Given the description of an element on the screen output the (x, y) to click on. 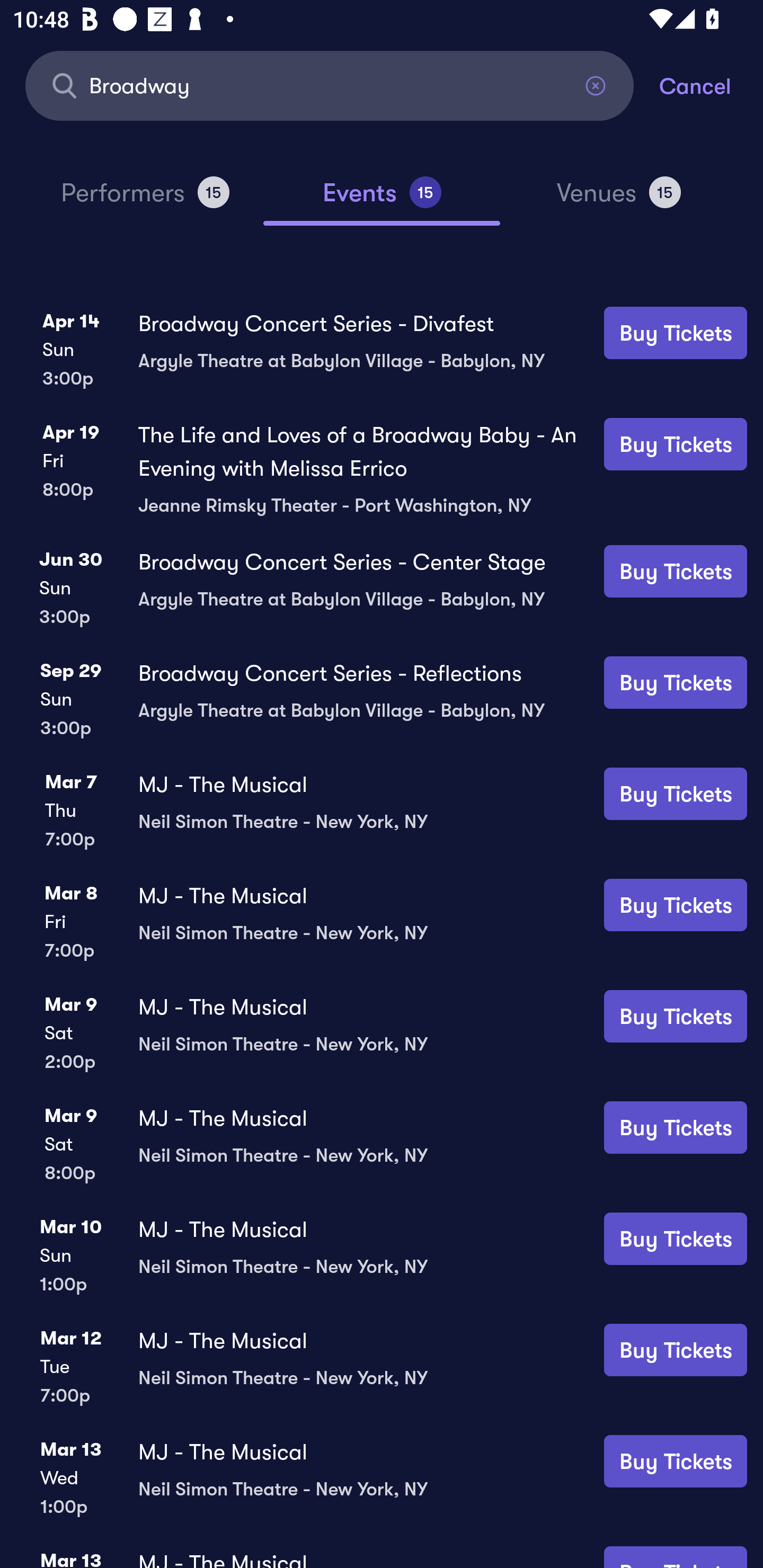
Broadway Find (329, 85)
Broadway Find (329, 85)
Cancel (711, 85)
Performers 15 (144, 200)
Events 15 (381, 200)
Venues 15 (618, 200)
